Given the description of an element on the screen output the (x, y) to click on. 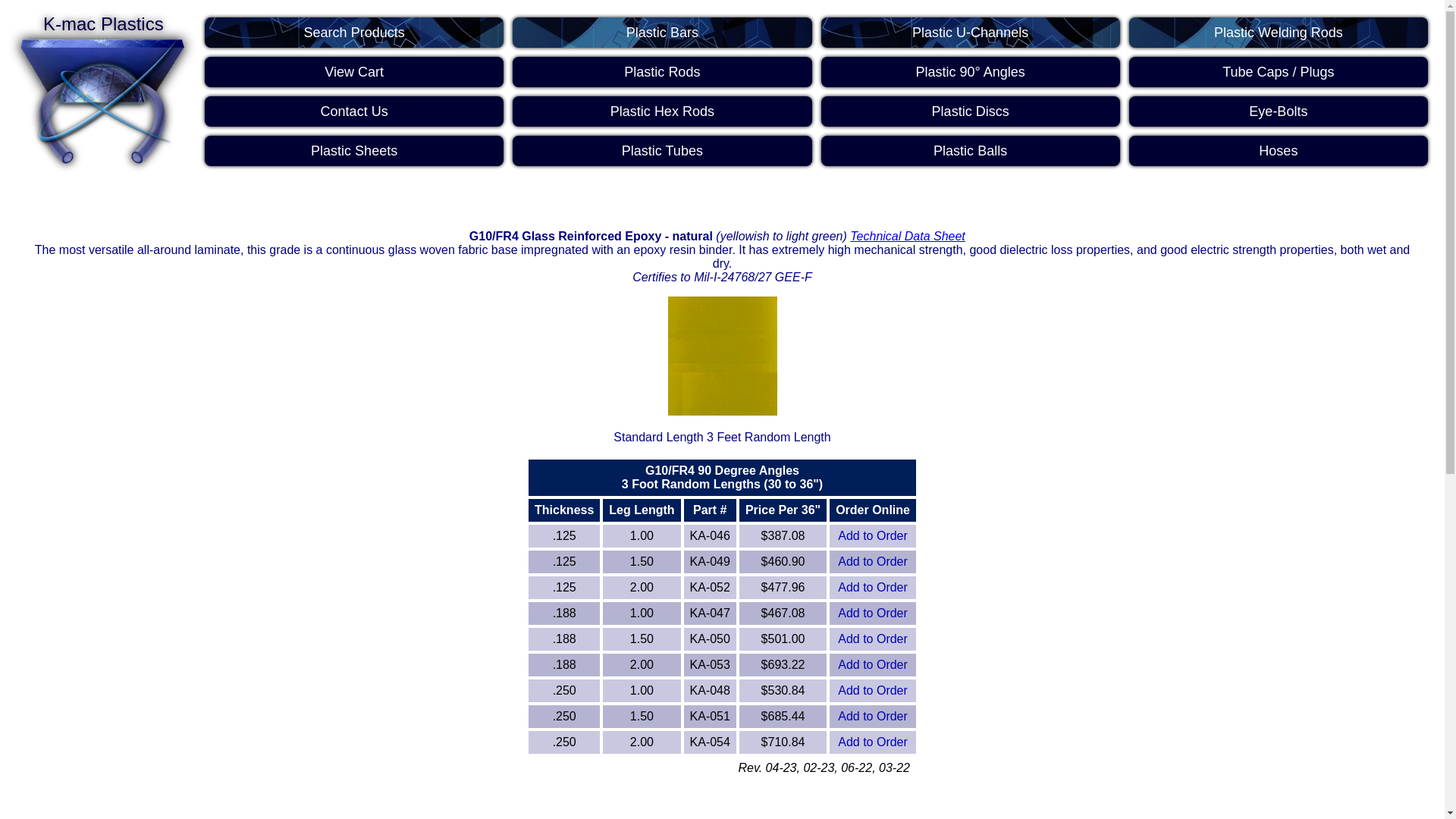
Plastic Hex Rods (661, 111)
Hoses (1278, 150)
Plastic Tubes (661, 150)
Plastic Balls (970, 150)
Contact Us (354, 111)
Add to Order (872, 664)
Add to Order (872, 638)
View Cart (354, 71)
Add to Order (872, 716)
Add to Order (872, 741)
